Given the description of an element on the screen output the (x, y) to click on. 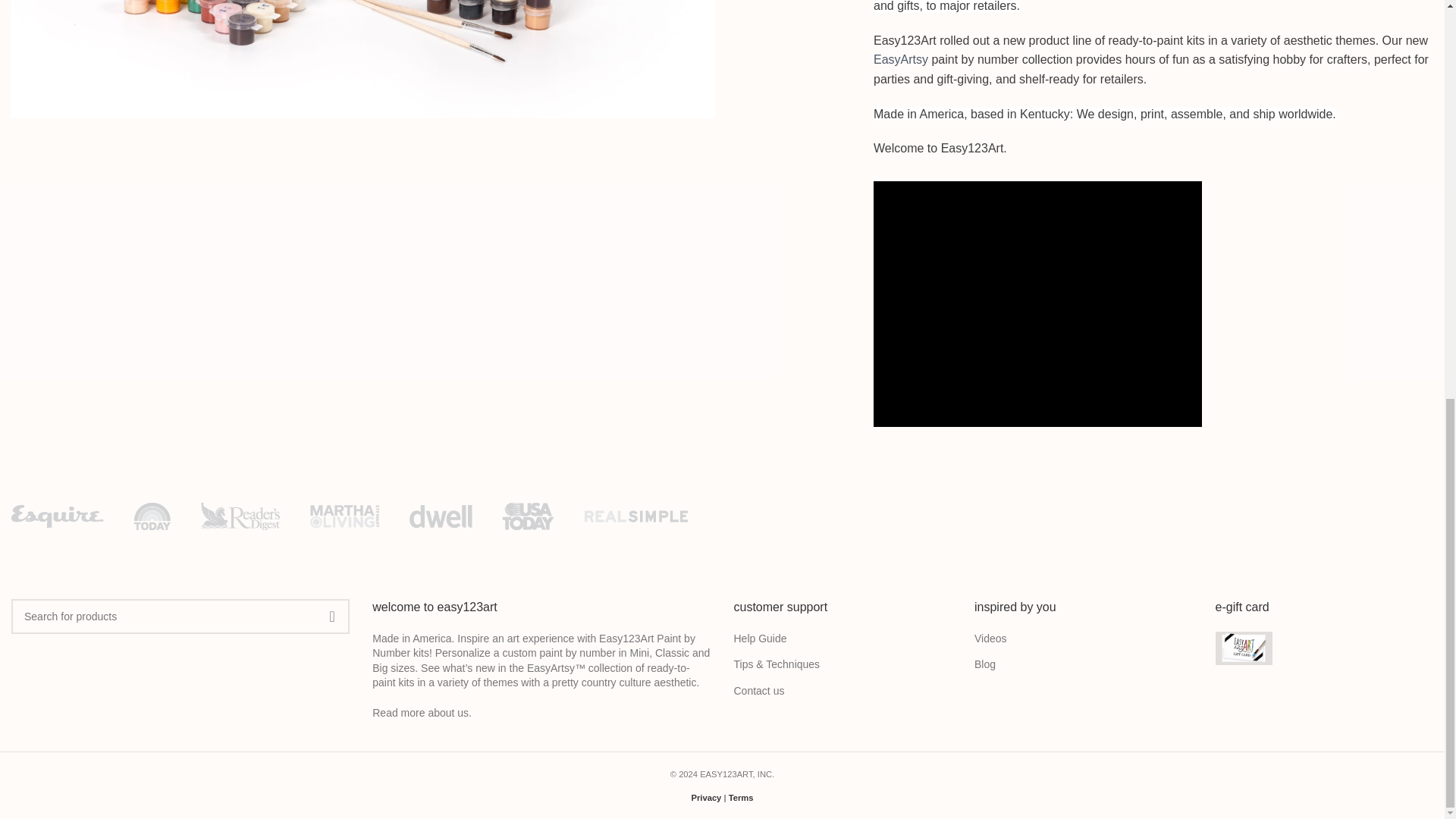
Contact us (759, 691)
about us. (449, 712)
EasyArtsy (900, 59)
Help Guide (761, 639)
SEARCH (331, 615)
E-Gift Card (1242, 648)
Search for products (180, 615)
